Given the description of an element on the screen output the (x, y) to click on. 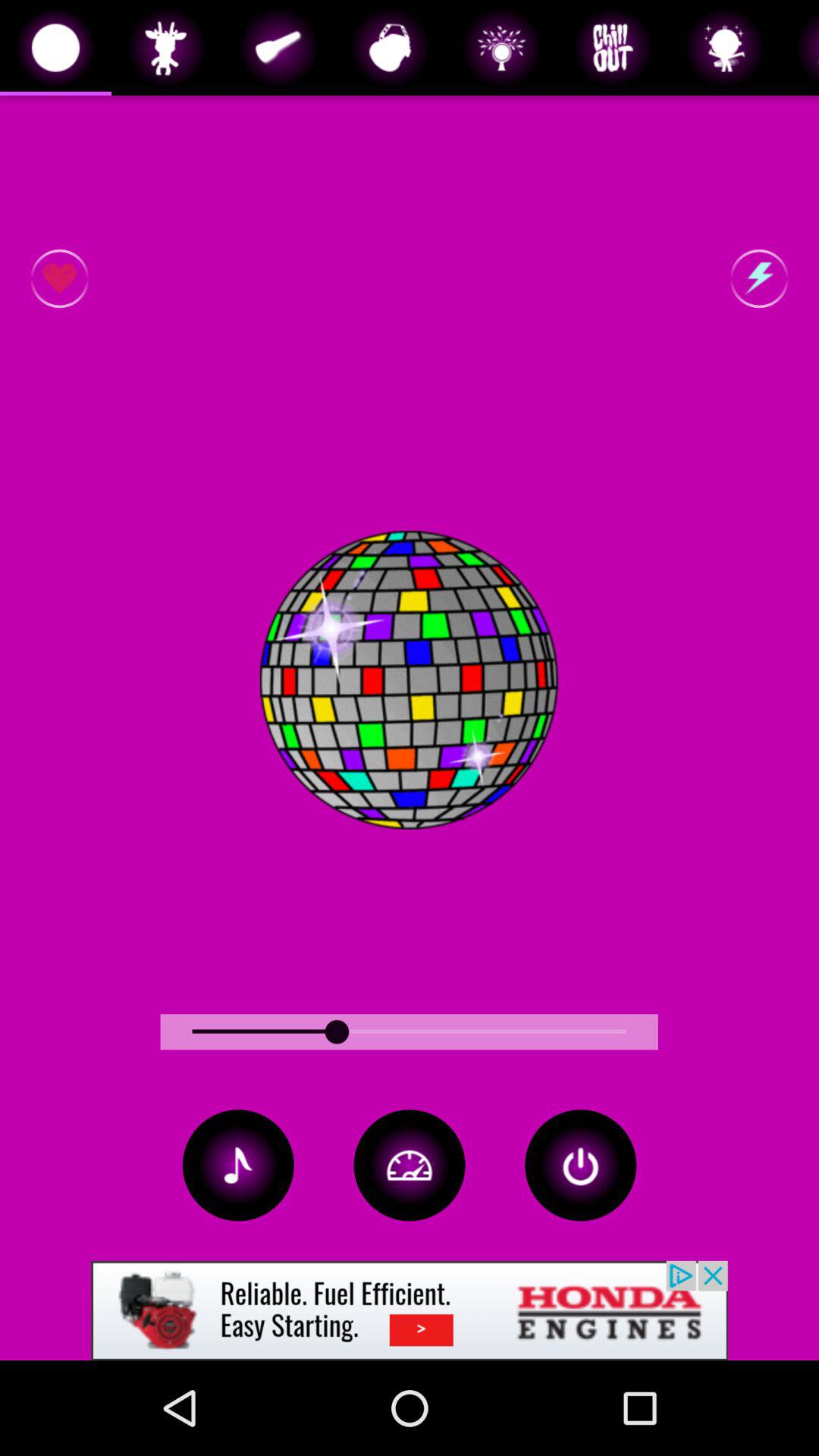
go to dashboard (409, 1165)
